Given the description of an element on the screen output the (x, y) to click on. 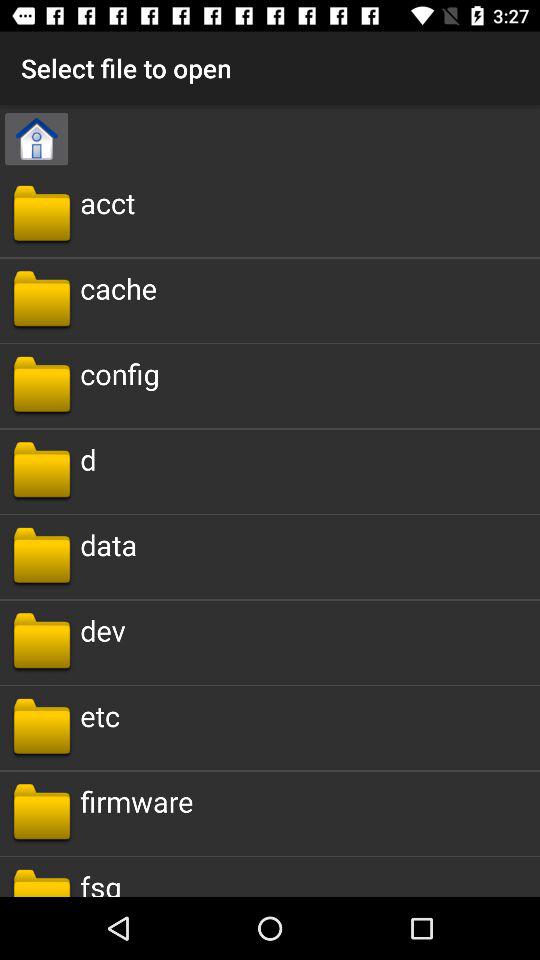
tap item above fsg icon (136, 800)
